Given the description of an element on the screen output the (x, y) to click on. 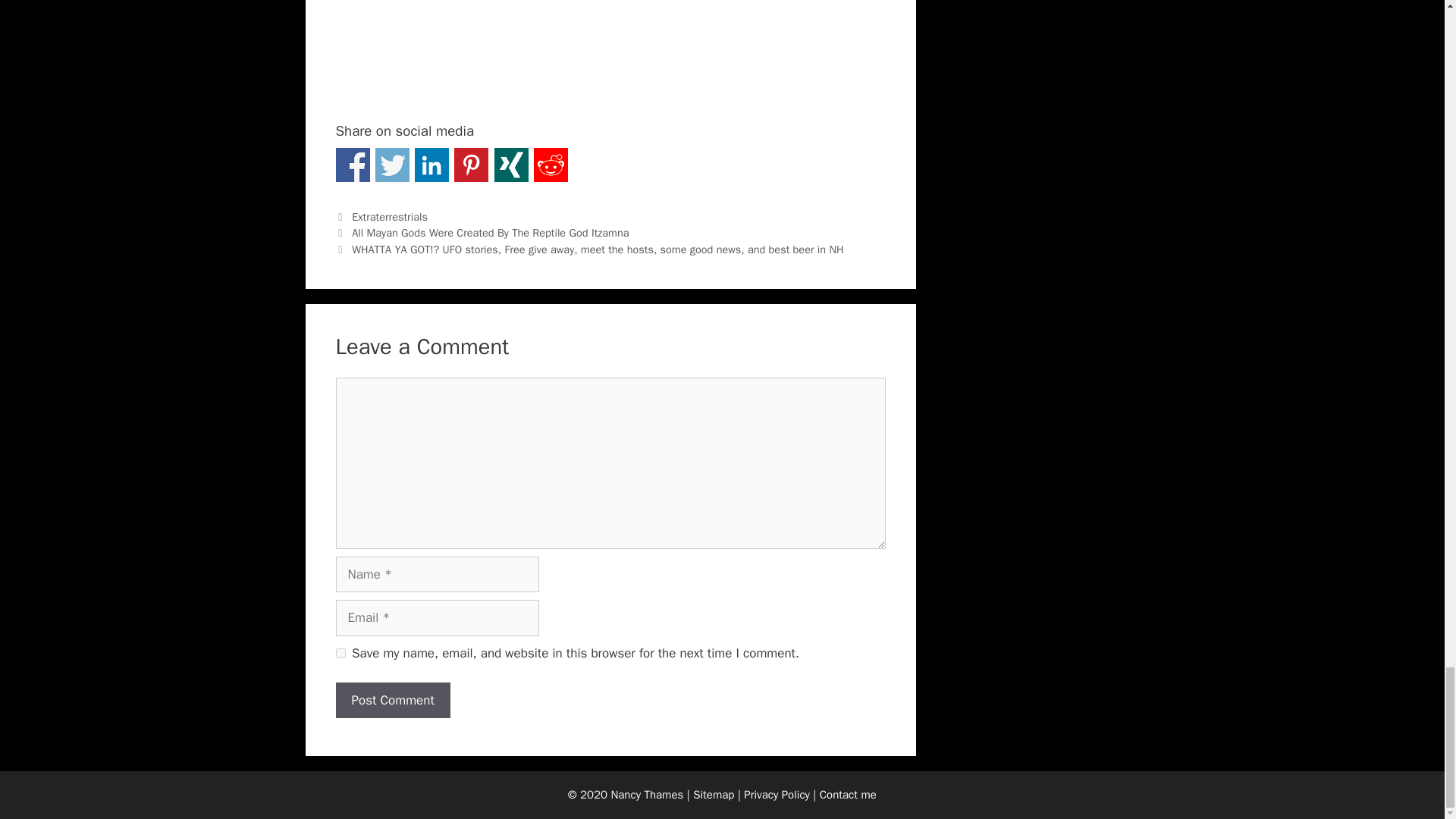
Extraterrestrials (390, 216)
Post Comment (391, 700)
Share on Facebook (351, 164)
Share on Twitter (392, 164)
yes (339, 653)
Share on Linkedin (431, 164)
All Mayan Gods Were Created By The Reptile God Itzamna (490, 232)
Share on Reddit (550, 164)
Share on Xing (511, 164)
